Given the description of an element on the screen output the (x, y) to click on. 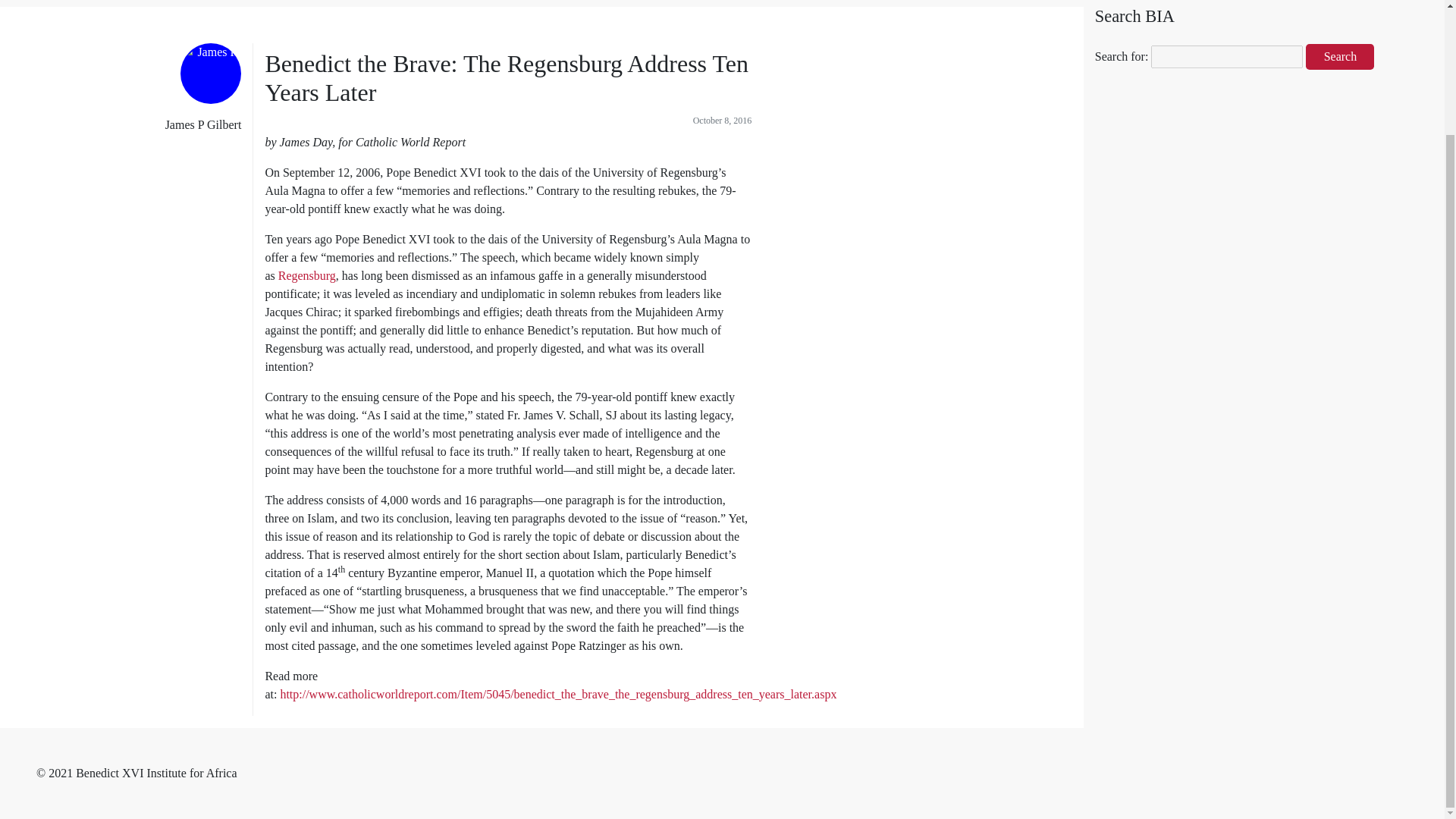
Search (1340, 56)
Search (1340, 56)
Regensburg (307, 275)
